Given the description of an element on the screen output the (x, y) to click on. 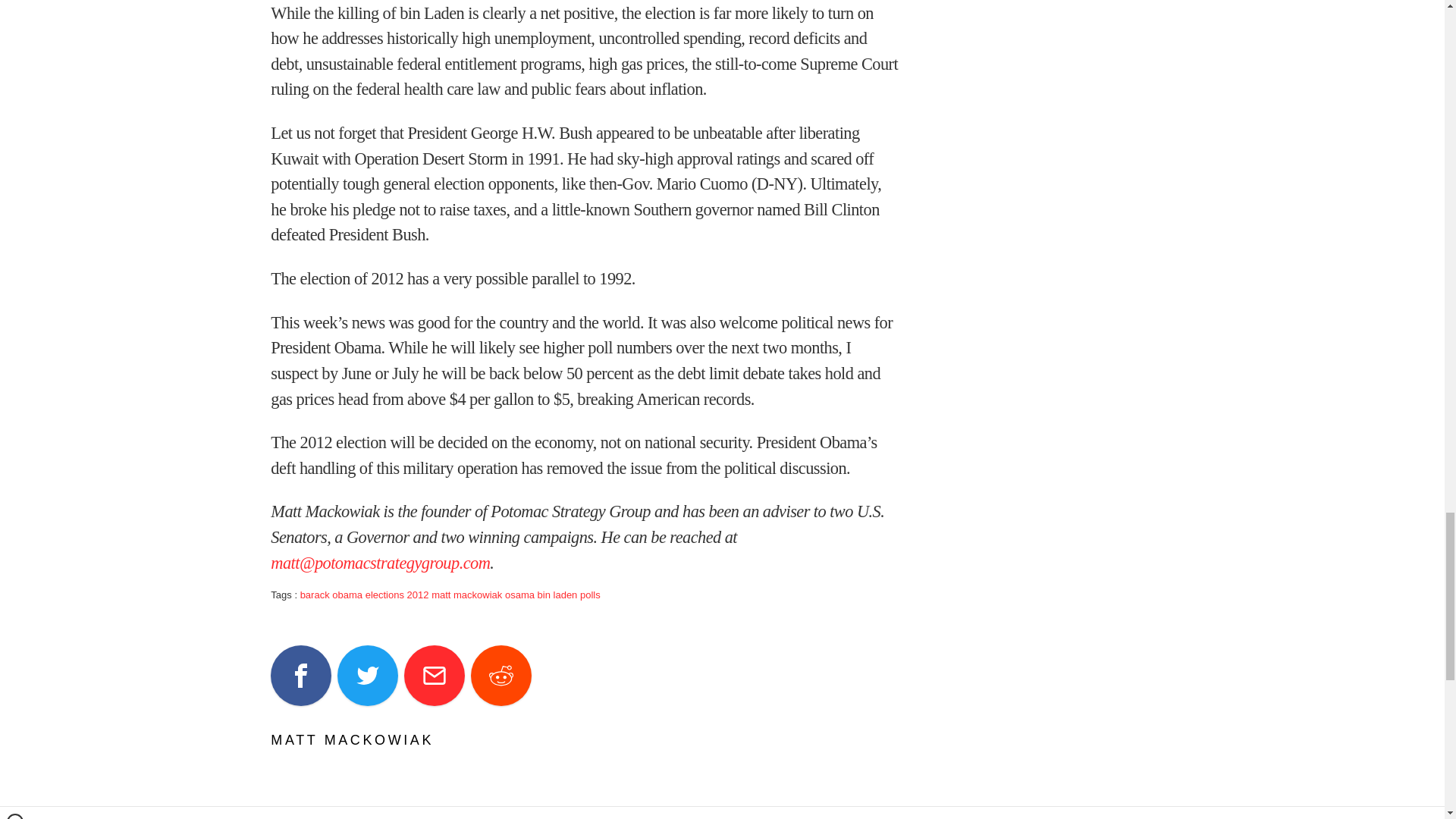
barack obama (330, 594)
